Given the description of an element on the screen output the (x, y) to click on. 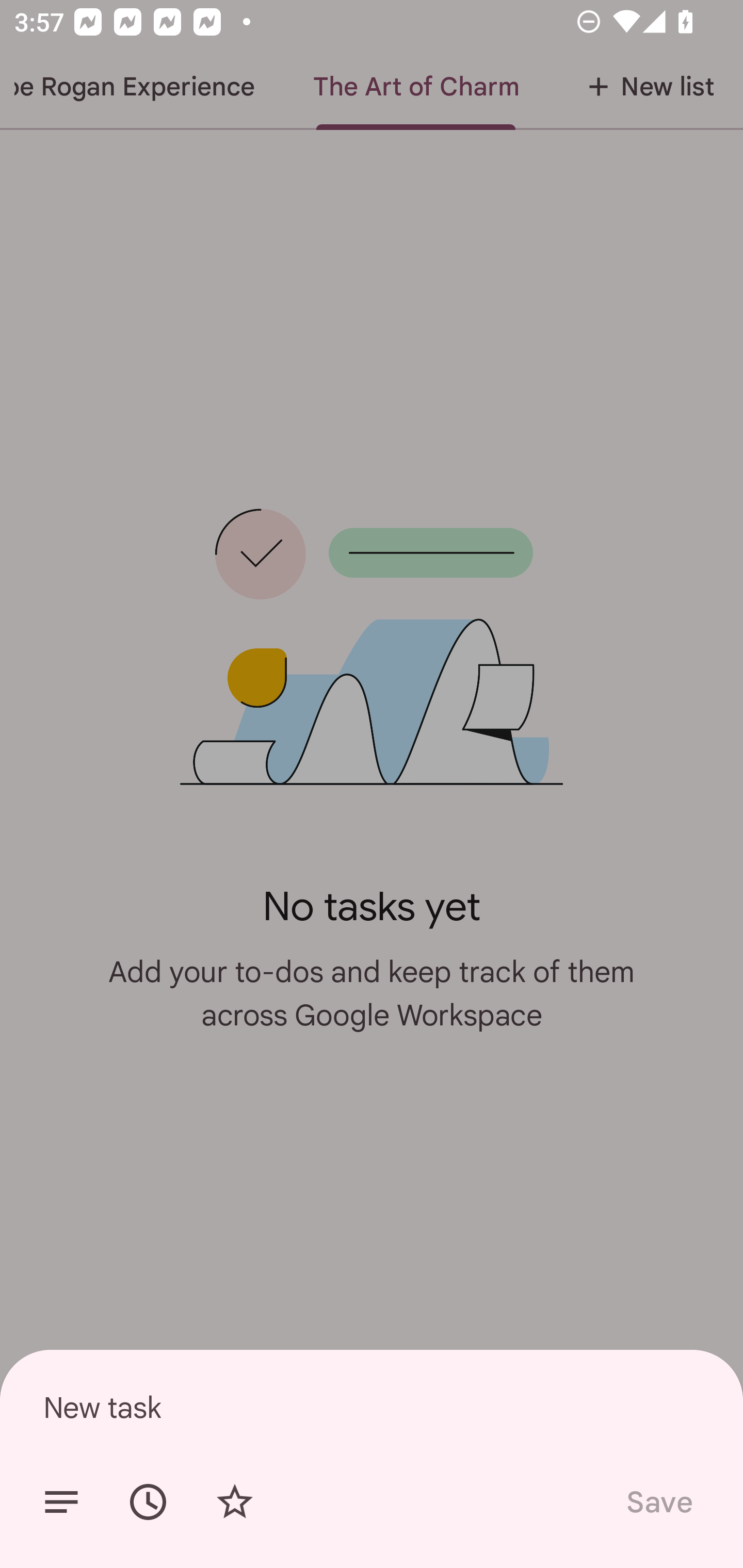
New task (371, 1407)
Save (659, 1501)
Add details (60, 1501)
Set date/time (147, 1501)
Add star (234, 1501)
